Given the description of an element on the screen output the (x, y) to click on. 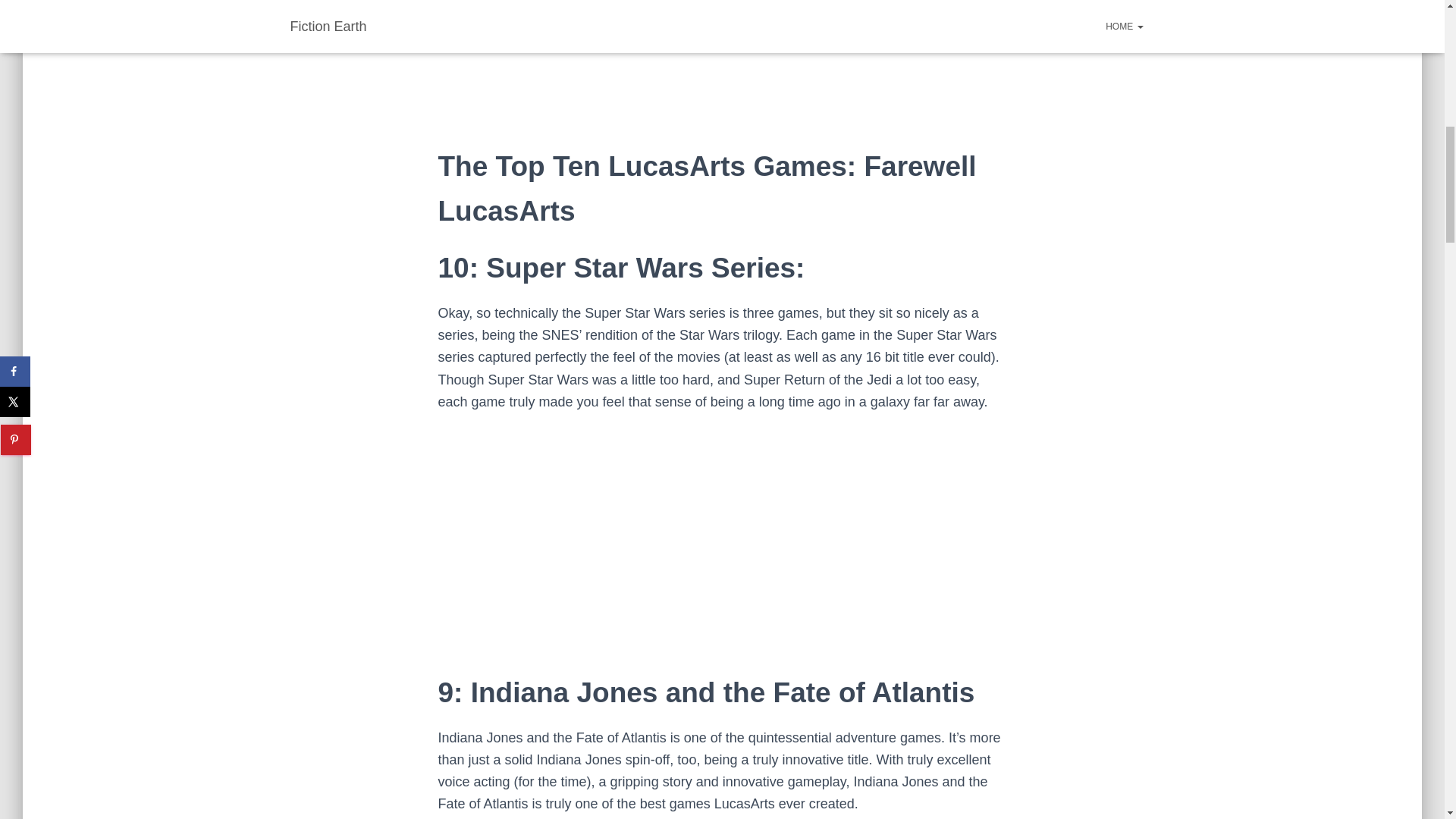
Advertisement (722, 72)
